Given the description of an element on the screen output the (x, y) to click on. 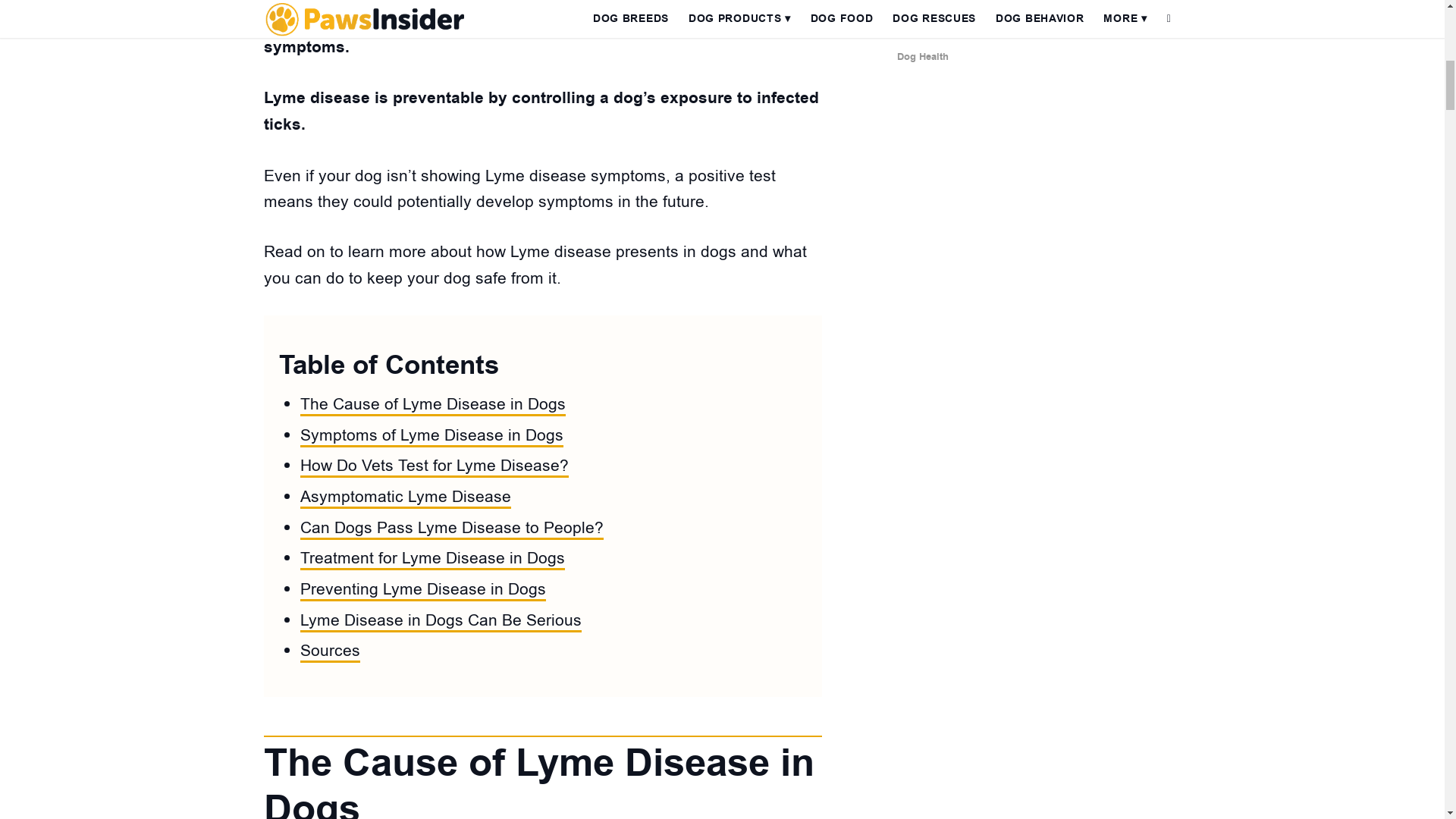
Can Dogs Pass Lyme Disease to People? (451, 527)
Preventing Lyme Disease in Dogs (422, 589)
How Do Vets Test for Lyme Disease? (434, 466)
Lyme Disease in Dogs Can Be Serious (439, 620)
Treatment for Lyme Disease in Dogs (431, 558)
Symptoms of Lyme Disease in Dogs (431, 436)
Sources (329, 650)
The Cause of Lyme Disease in Dogs (432, 404)
Asymptomatic Lyme Disease (405, 497)
